Given the description of an element on the screen output the (x, y) to click on. 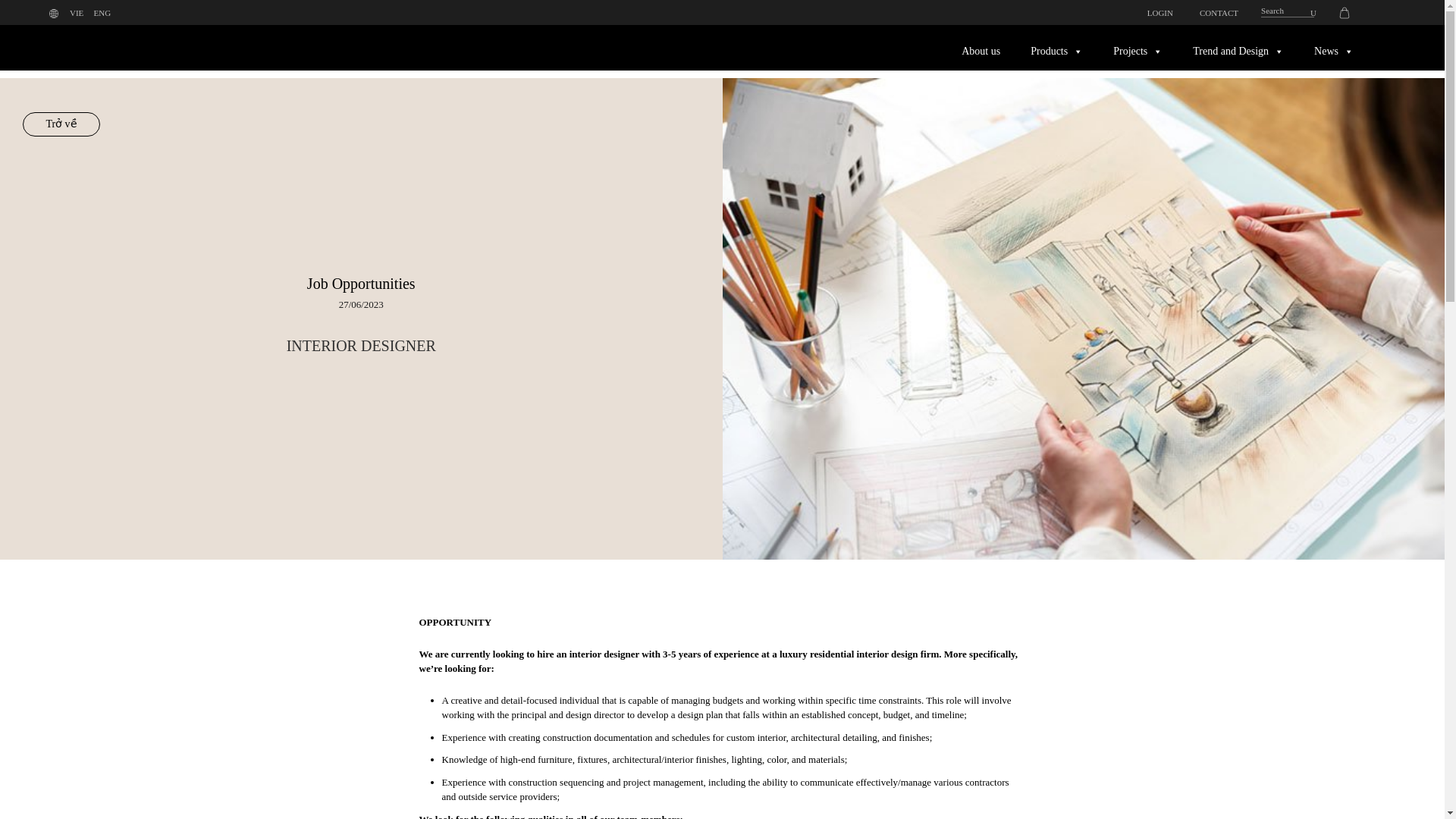
Products (1071, 51)
VIE (75, 12)
About us (995, 51)
ENG (103, 12)
CONTACT (1213, 13)
LOGIN (1154, 13)
